Given the description of an element on the screen output the (x, y) to click on. 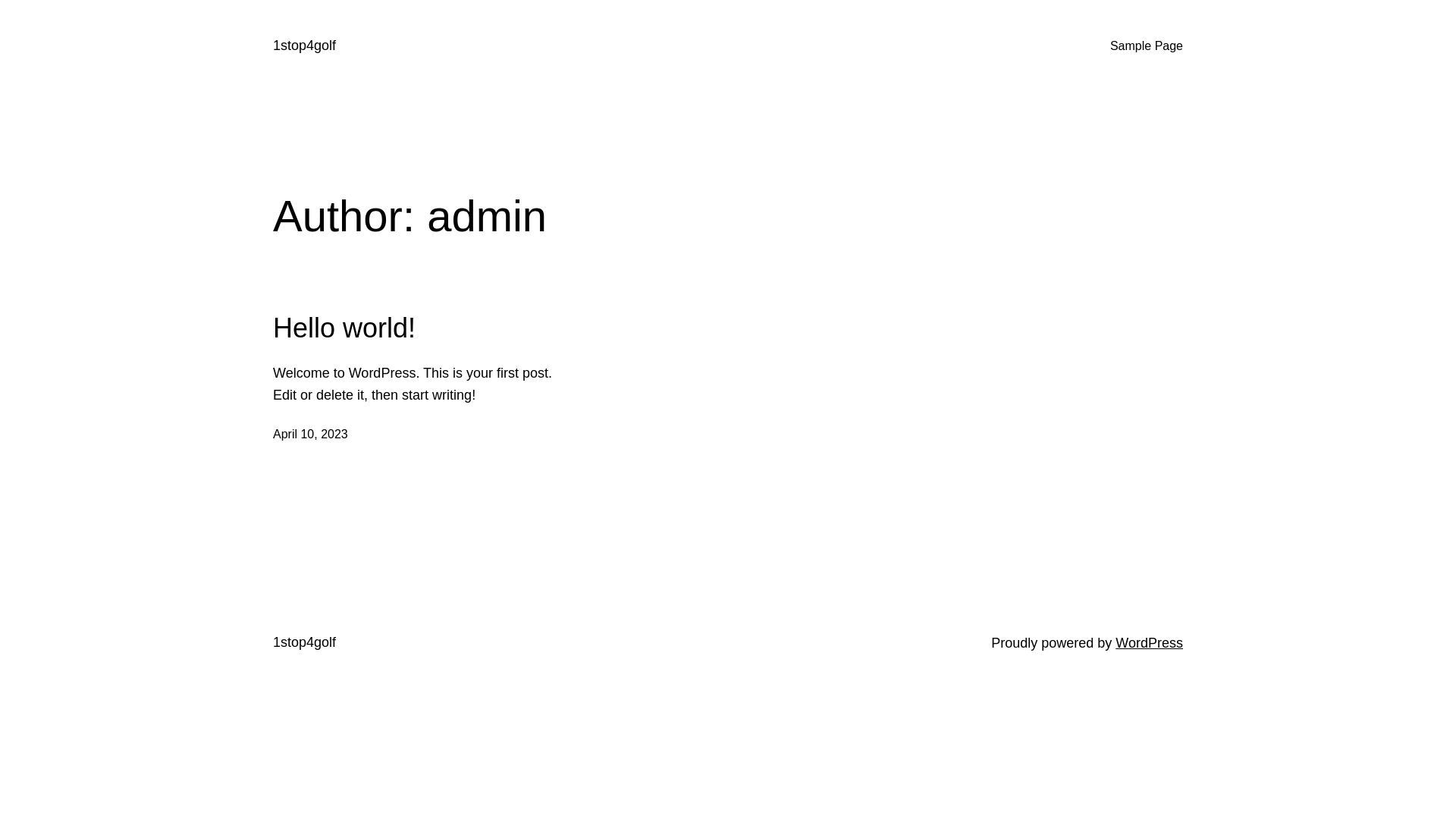
1stop4golf Element type: text (304, 641)
Hello world! Element type: text (344, 327)
April 10, 2023 Element type: text (310, 433)
1stop4golf Element type: text (304, 45)
WordPress Element type: text (1149, 642)
Sample Page Element type: text (1146, 46)
